Given the description of an element on the screen output the (x, y) to click on. 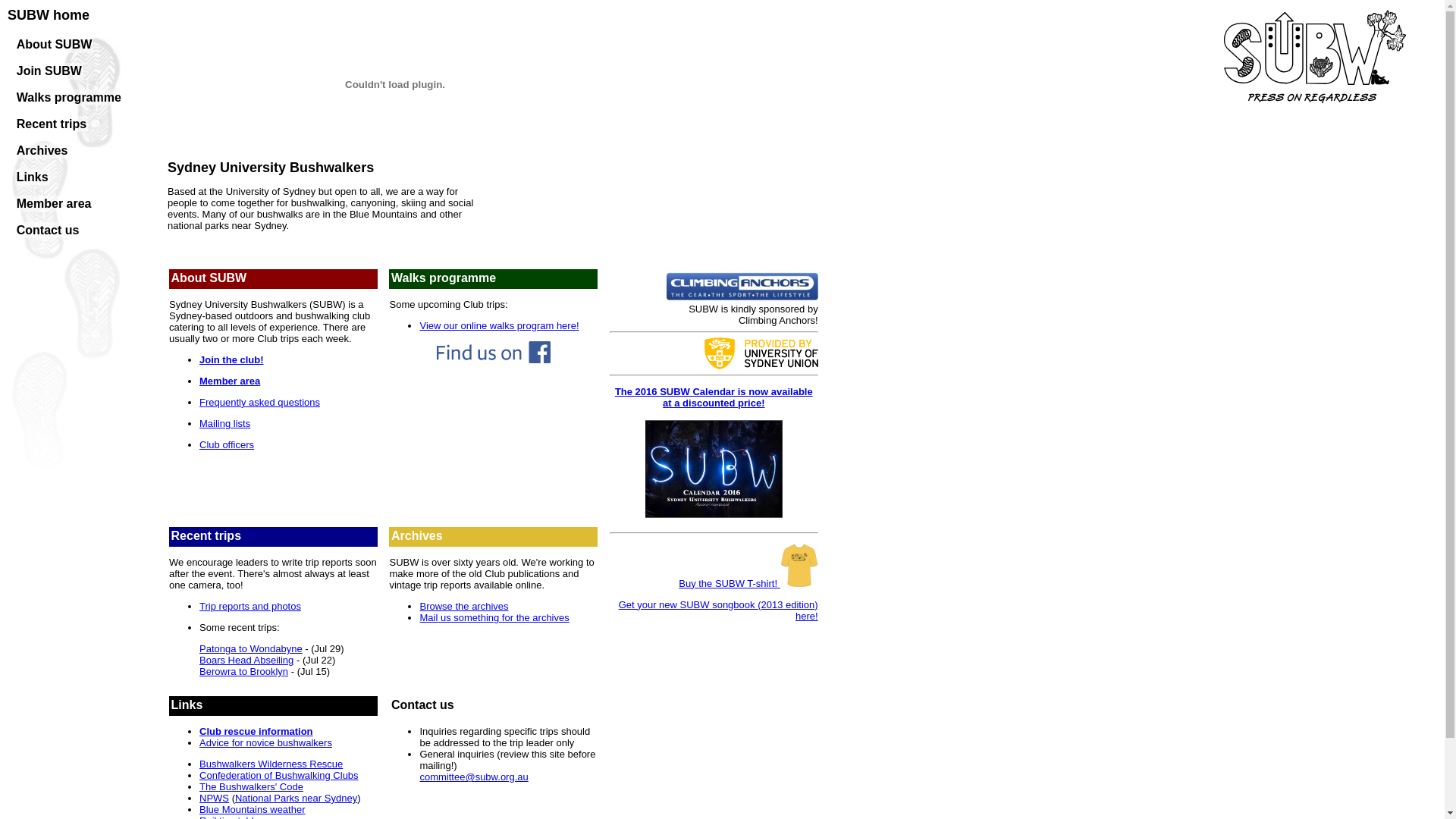
Join the club! Element type: text (231, 359)
Contact us Element type: text (48, 230)
Links Element type: text (32, 177)
About SUBW Element type: text (54, 44)
National Parks near Sydney Element type: text (296, 797)
Club officers Element type: text (226, 444)
Frequently asked questions Element type: text (259, 401)
Recent trips Element type: text (51, 123)
Member area Element type: text (54, 203)
SUBW home Element type: text (48, 14)
Patonga to Wondabyne Element type: text (250, 648)
Buy the SUBW T-shirt! Element type: text (747, 583)
Bushwalkers Wilderness Rescue Element type: text (270, 763)
Get your new SUBW songbook (2013 edition) here! Element type: text (718, 610)
Club rescue information Element type: text (256, 731)
View our online walks program here! Element type: text (498, 325)
Walks programme Element type: text (68, 97)
Berowra to Brooklyn Element type: text (243, 671)
Trip reports and photos Element type: text (250, 605)
Advice for novice bushwalkers Element type: text (265, 742)
Archives Element type: text (42, 150)
Boars Head Abseiling Element type: text (246, 659)
NPWS Element type: text (214, 797)
Blue Mountains weather Element type: text (251, 809)
Confederation of Bushwalking Clubs Element type: text (278, 775)
Mail us something for the archives Element type: text (493, 617)
Browse the archives Element type: text (463, 605)
committee@subw.org.au Element type: text (473, 776)
Mailing lists Element type: text (224, 423)
Member area Element type: text (229, 380)
Join SUBW Element type: text (49, 70)
The Bushwalkers' Code Element type: text (251, 786)
